Given the description of an element on the screen output the (x, y) to click on. 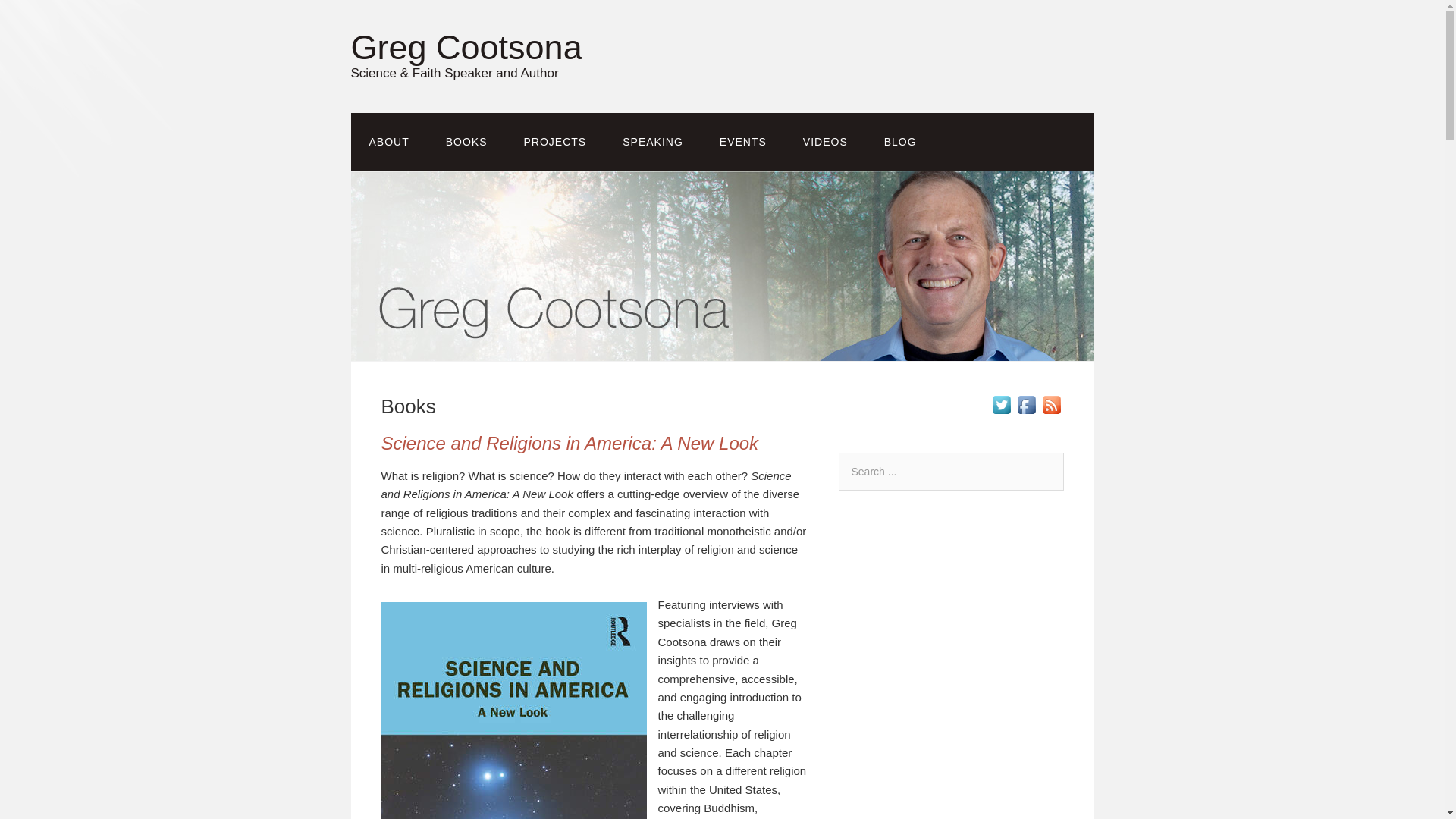
PROJECTS (555, 142)
EVENTS (742, 142)
Visit Us On Twitter (1000, 412)
BOOKS (466, 142)
ABOUT (388, 142)
Greg Cootsona (465, 46)
Search for: (951, 471)
Science and Religions in America: A New Look (569, 443)
